Given the description of an element on the screen output the (x, y) to click on. 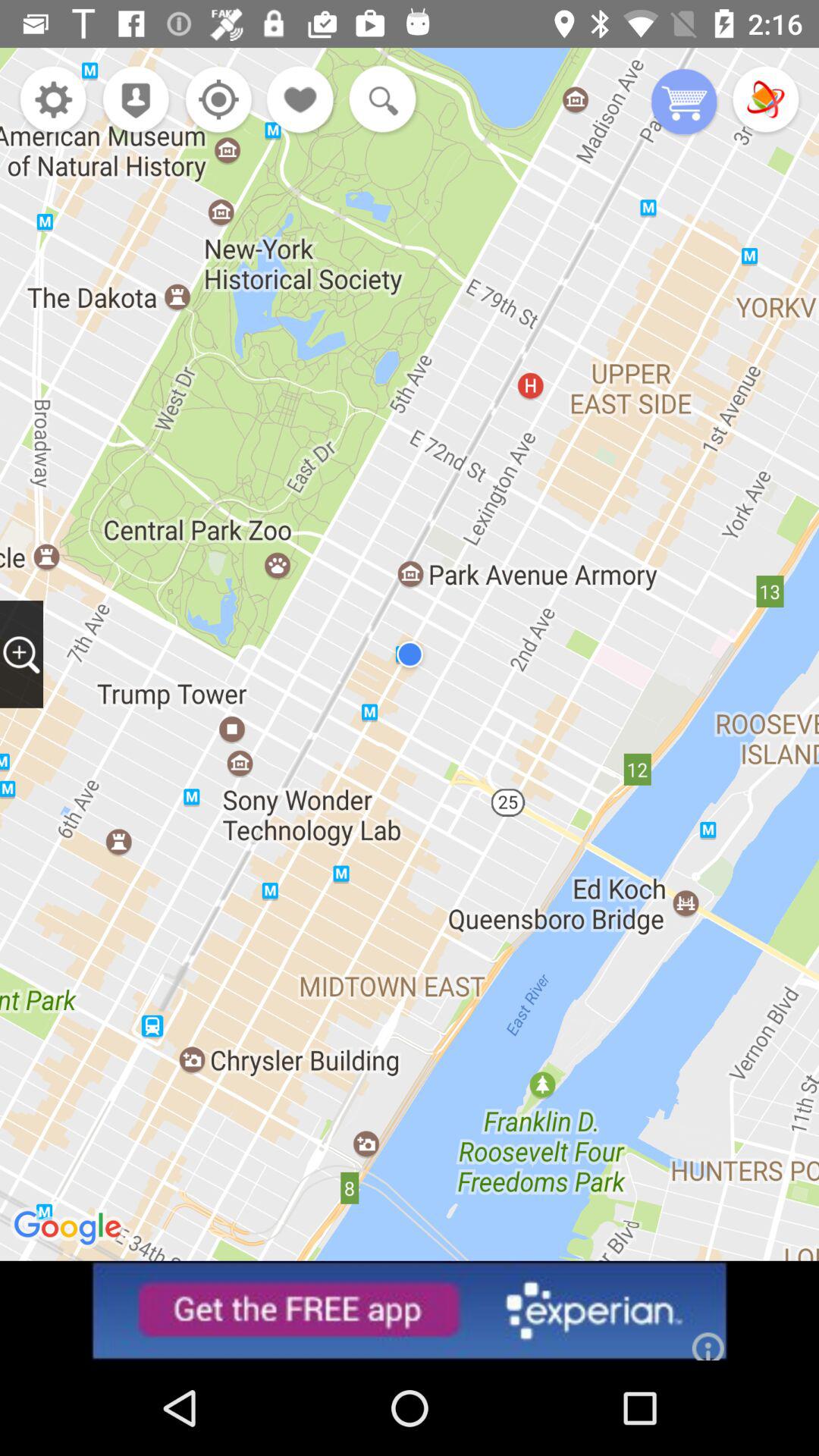
search (379, 100)
